Given the description of an element on the screen output the (x, y) to click on. 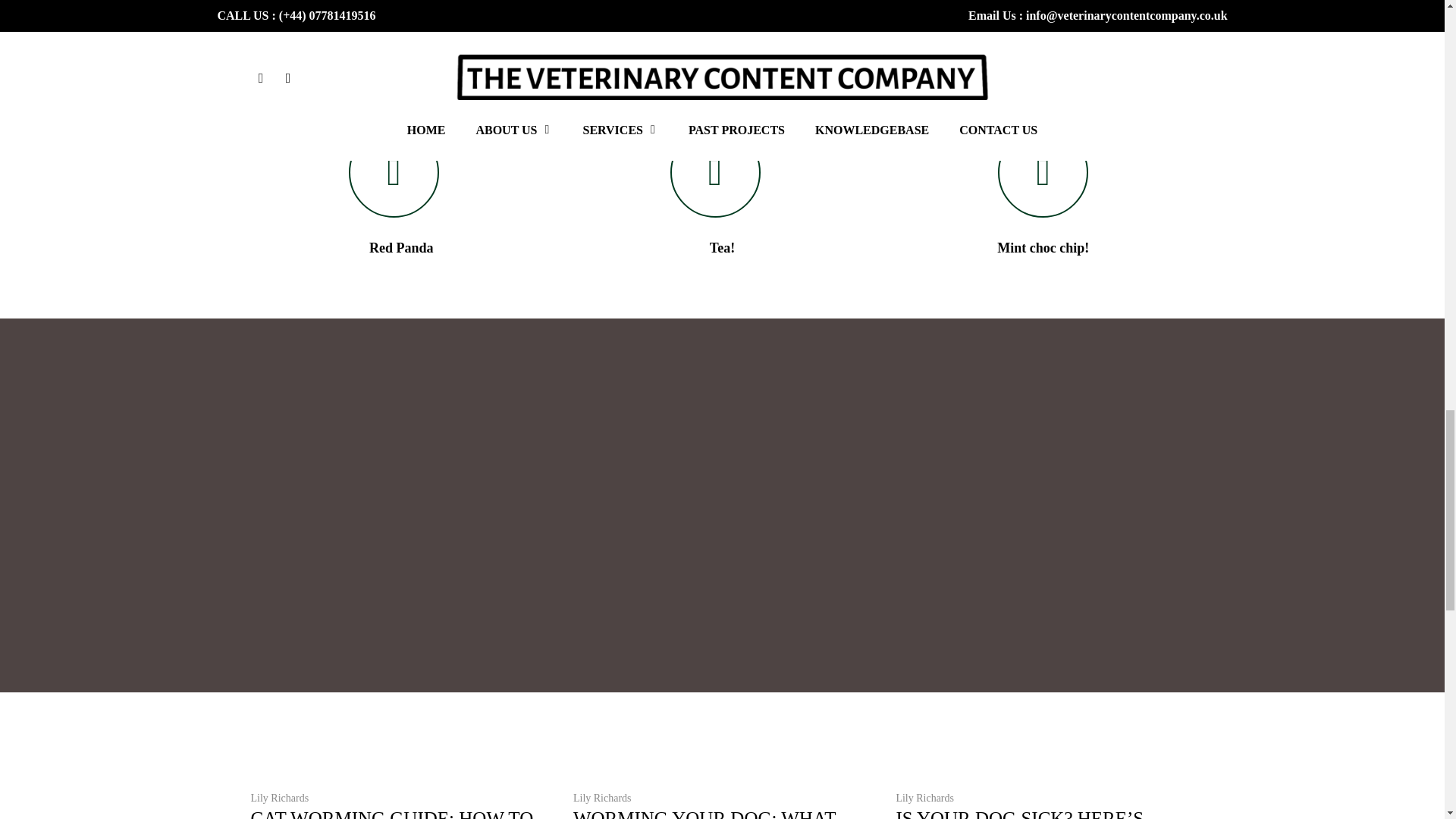
CAT WORMING GUIDE: HOW TO TREAT AND WHAT TO LOOK FOR (395, 813)
Lily Richards (602, 797)
WORMING YOUR DOG: WHAT YOU NEED TO KNOW (704, 813)
Lily Richards (279, 797)
Lily Richards (924, 797)
